Given the description of an element on the screen output the (x, y) to click on. 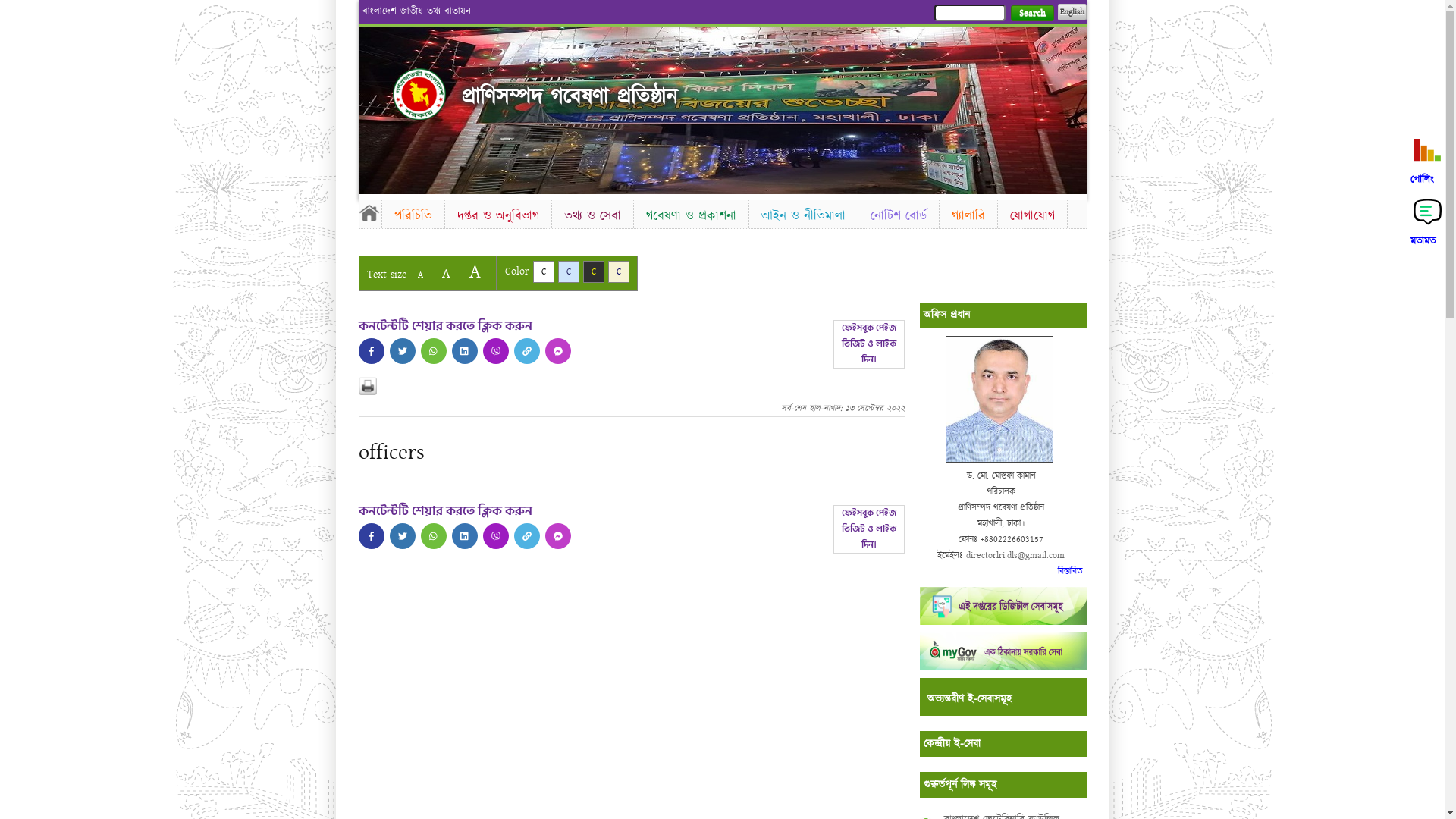
directorlri.dls@gmail.com Element type: text (1015, 555)
A Element type: text (445, 273)
A Element type: text (419, 274)
A Element type: text (474, 271)
C Element type: text (568, 271)
C Element type: text (618, 271)
Search Element type: text (1031, 13)
English Element type: text (1071, 11)
C Element type: text (542, 271)
Home Element type: hover (368, 211)
C Element type: text (592, 271)
Home Element type: hover (418, 93)
